Given the description of an element on the screen output the (x, y) to click on. 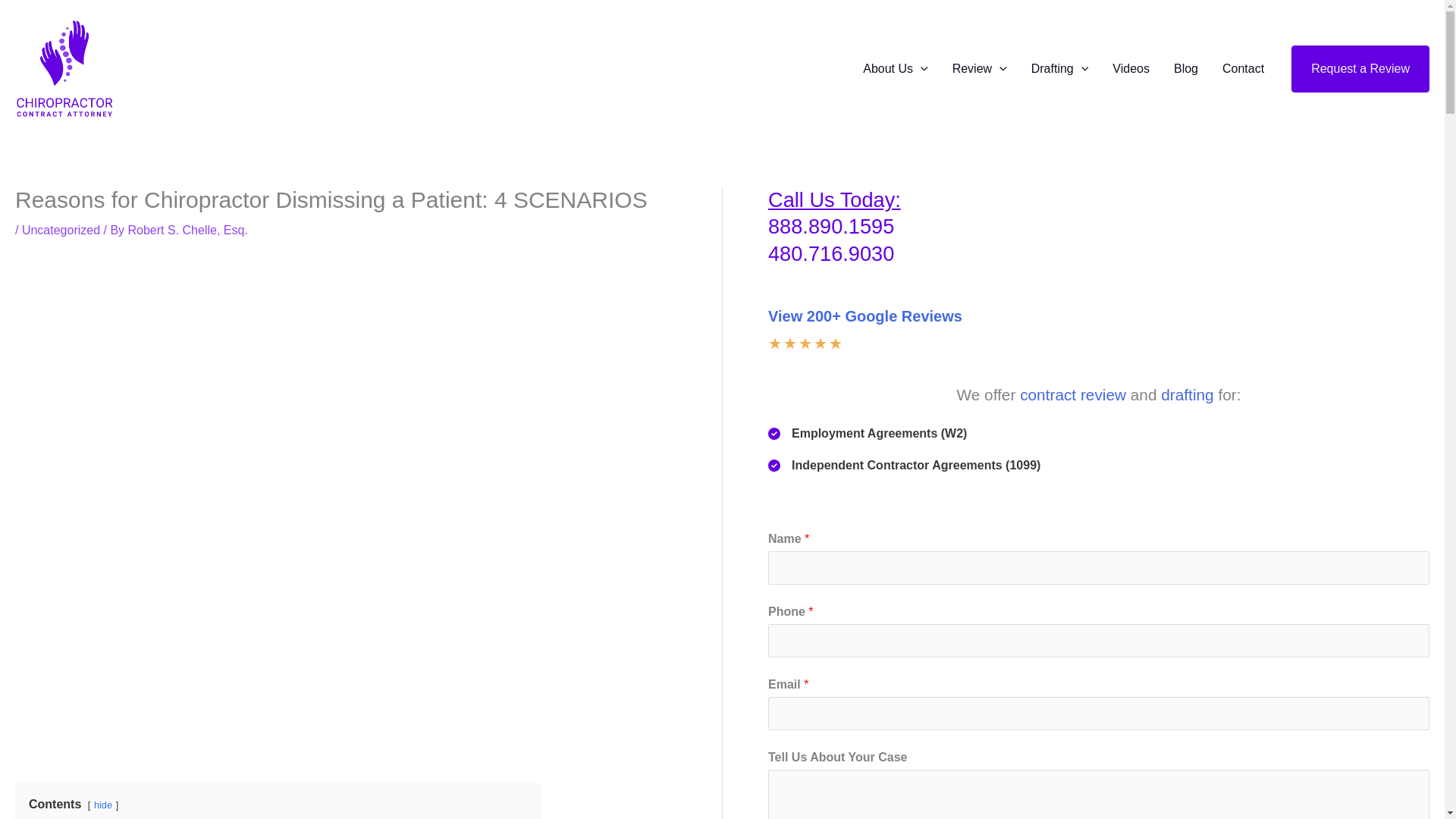
About Us (894, 68)
Robert S. Chelle, Esq. (187, 229)
View all posts by Robert S. Chelle, Esq. (187, 229)
Videos (1130, 68)
Contact (1242, 68)
Drafting (1059, 68)
Uncategorized (60, 229)
Request a Review (1360, 68)
hide (103, 804)
Review (979, 68)
